Given the description of an element on the screen output the (x, y) to click on. 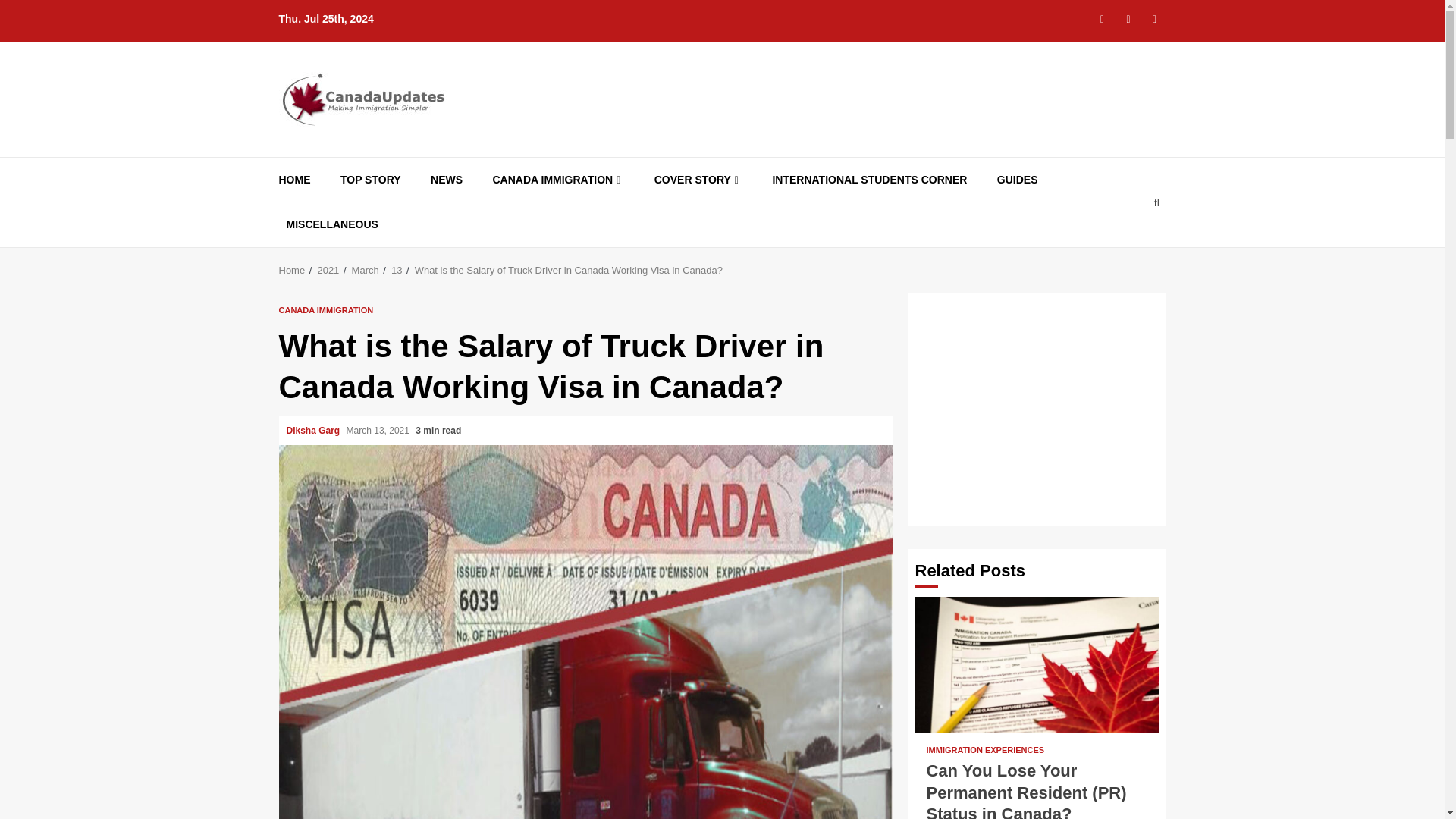
Search (1126, 248)
Advertisement (1041, 406)
CANADA IMMIGRATION (326, 310)
CANADA IMMIGRATION (558, 179)
LinkedIn (1154, 18)
NEWS (446, 179)
MISCELLANEOUS (332, 224)
Diksha Garg (314, 430)
COVER STORY (697, 179)
Home (292, 270)
Facebook (1101, 18)
GUIDES (1017, 179)
2021 (328, 270)
TOP STORY (370, 179)
